Given the description of an element on the screen output the (x, y) to click on. 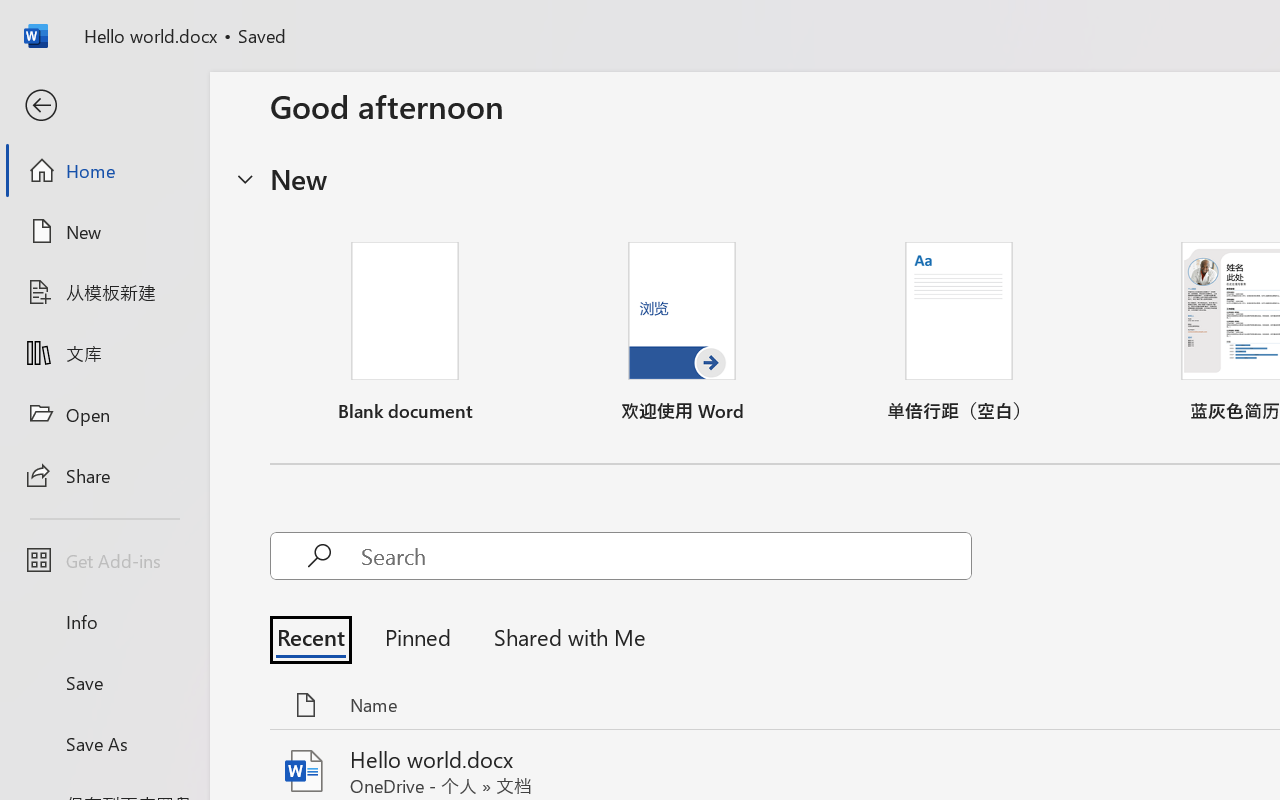
Recent (316, 636)
Back (104, 106)
Pinned (417, 636)
Search (665, 555)
Home (104, 170)
Blank document (405, 332)
Get Add-ins (104, 560)
Hide or show region (245, 178)
Open (104, 414)
Save As (104, 743)
